Given the description of an element on the screen output the (x, y) to click on. 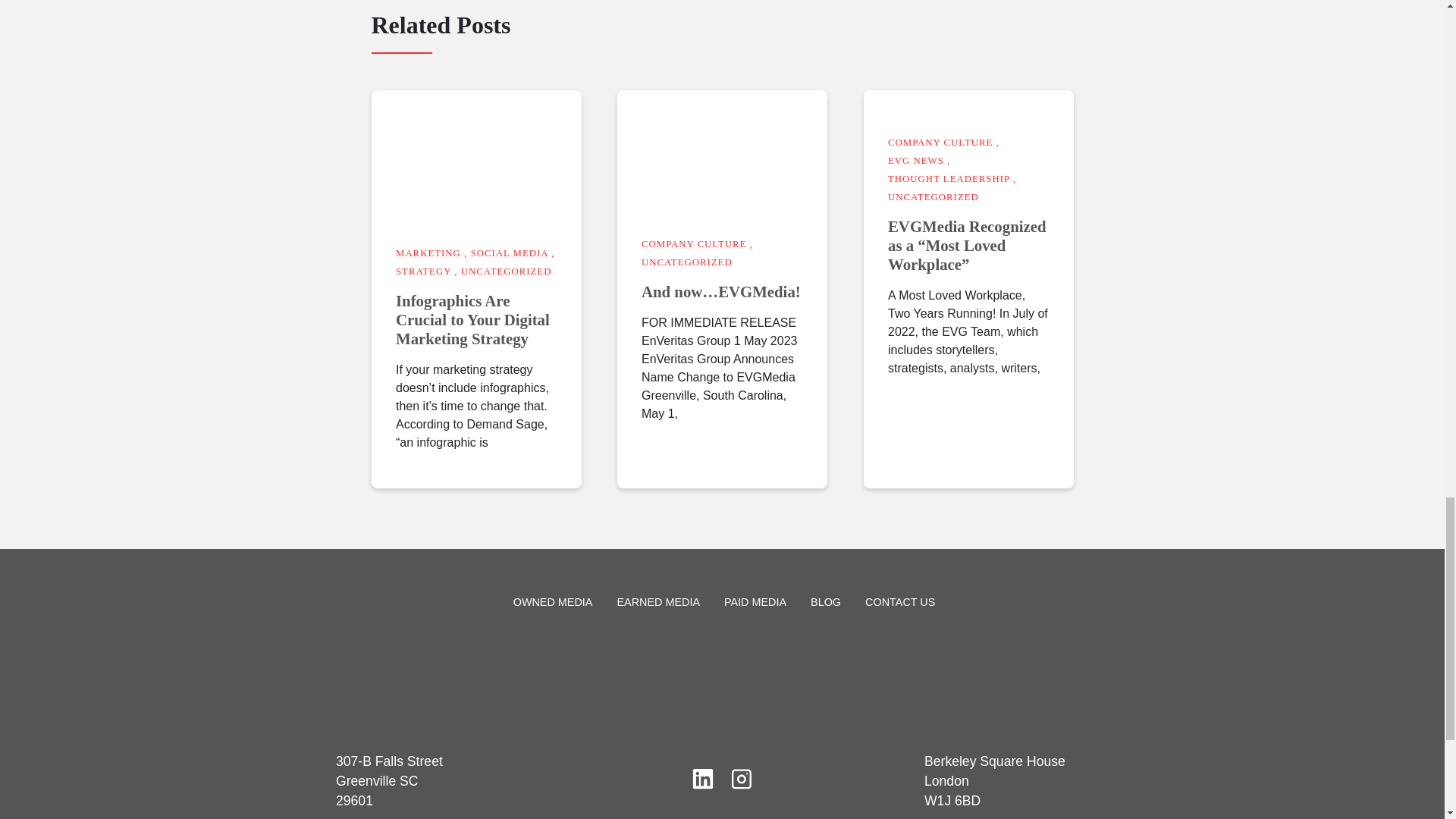
Infographics Are Crucial to Your Digital Marketing Strategy (476, 319)
MARKETING (428, 253)
EARNED MEDIA (657, 602)
UNCATEGORIZED (933, 196)
STRATEGY (423, 271)
COMPANY CULTURE (693, 244)
OWNED MEDIA (552, 602)
COMPANY CULTURE (940, 142)
THOUGHT LEADERSHIP (949, 178)
PAID MEDIA (754, 602)
